Given the description of an element on the screen output the (x, y) to click on. 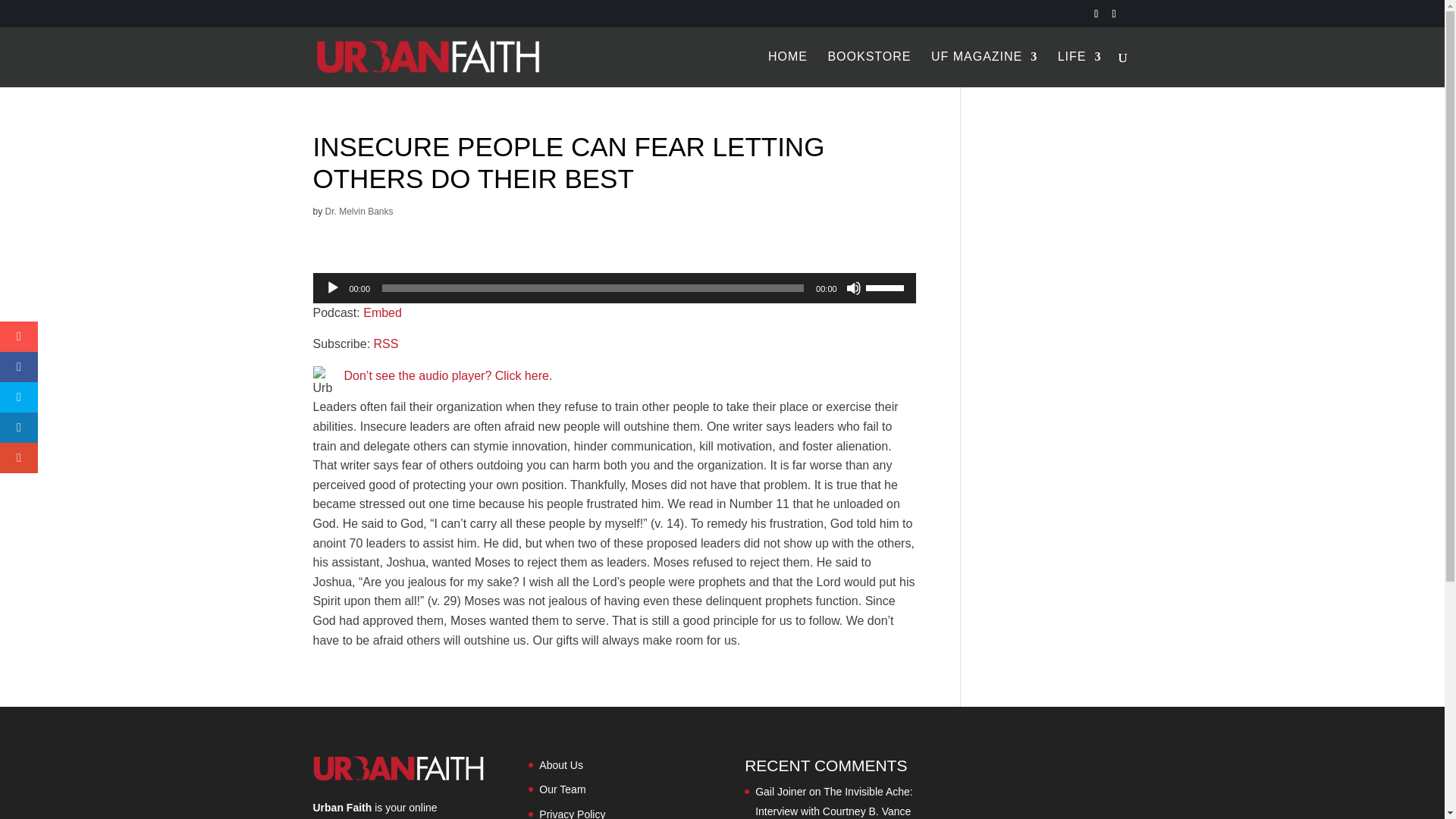
Dr. Melvin Banks (358, 211)
UF MAGAZINE (983, 68)
Play (331, 287)
RSS (386, 343)
LIFE (1080, 68)
Embed (381, 312)
Subscribe via RSS (386, 343)
Embed (381, 312)
BOOKSTORE (869, 68)
Mute (853, 287)
Posts by Dr. Melvin Banks (358, 211)
HOME (788, 68)
